Given the description of an element on the screen output the (x, y) to click on. 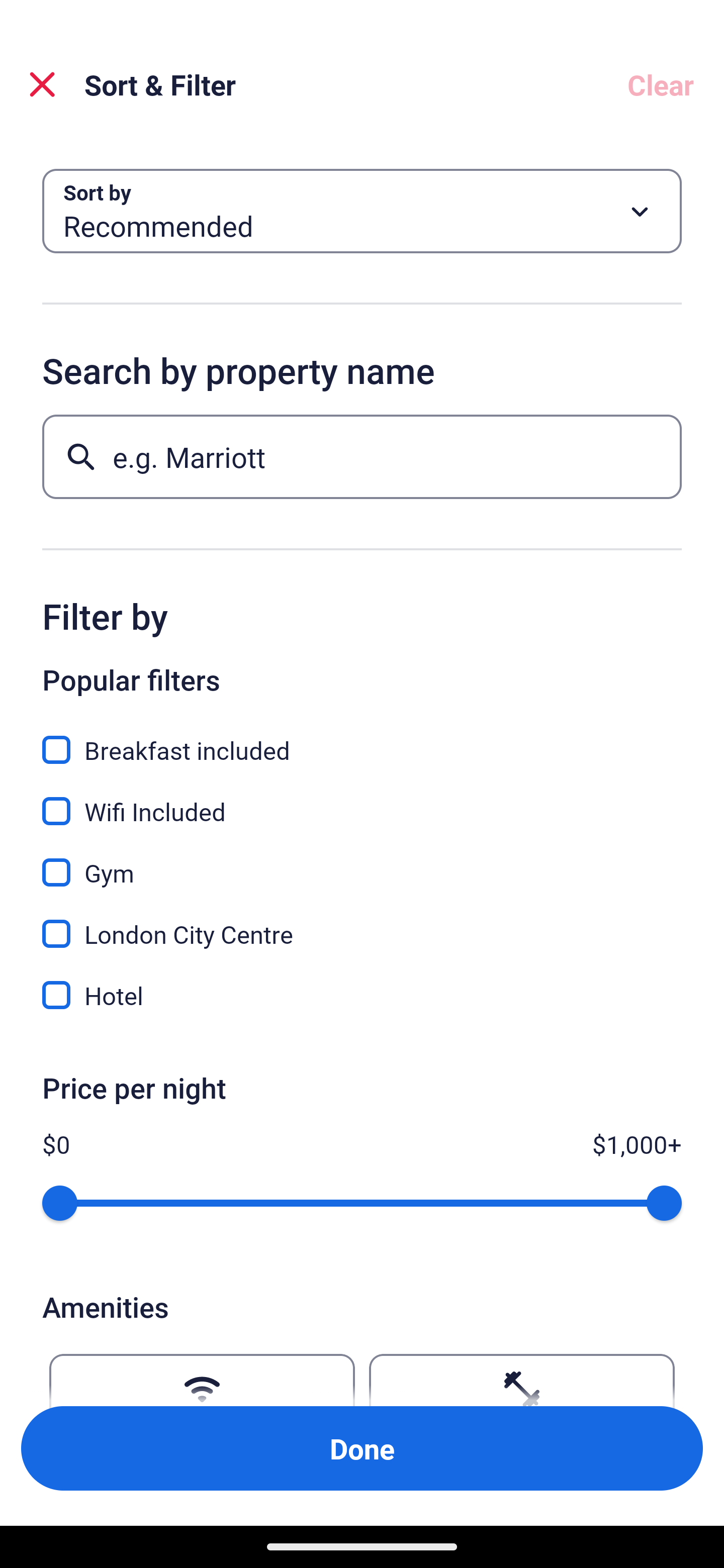
Close Sort and Filter (42, 84)
Clear (660, 84)
Sort by Button Recommended (361, 211)
e.g. Marriott Button (361, 455)
Breakfast included, Breakfast included (361, 738)
Wifi Included, Wifi Included (361, 800)
Gym, Gym (361, 861)
London City Centre, London City Centre (361, 922)
Hotel, Hotel (361, 995)
Apply and close Sort and Filter Done (361, 1448)
